Given the description of an element on the screen output the (x, y) to click on. 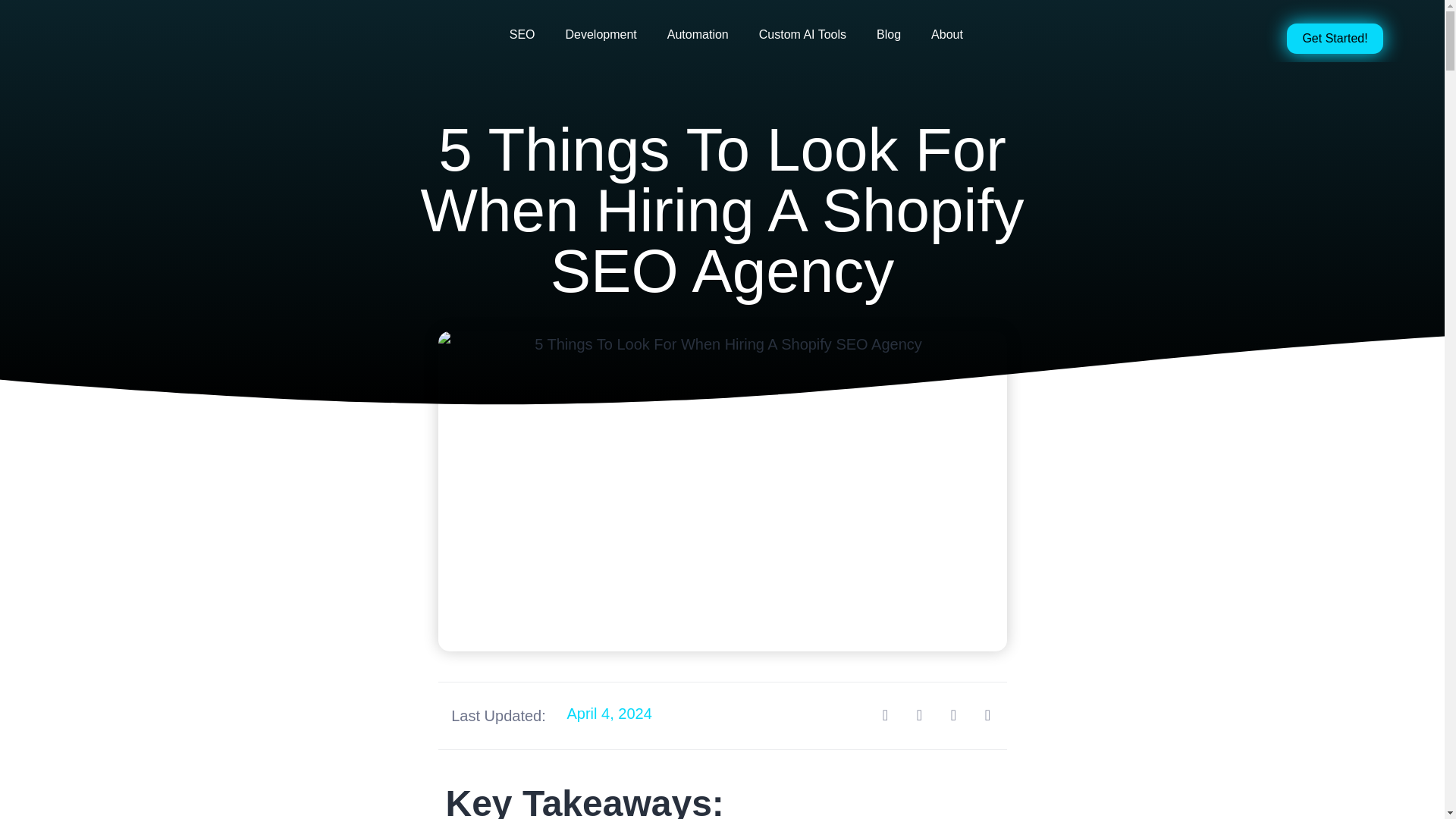
About (946, 34)
Blog (888, 34)
Get Started! (1334, 38)
SEO (522, 34)
Development (601, 34)
Custom AI Tools (802, 34)
Automation (698, 34)
